Given the description of an element on the screen output the (x, y) to click on. 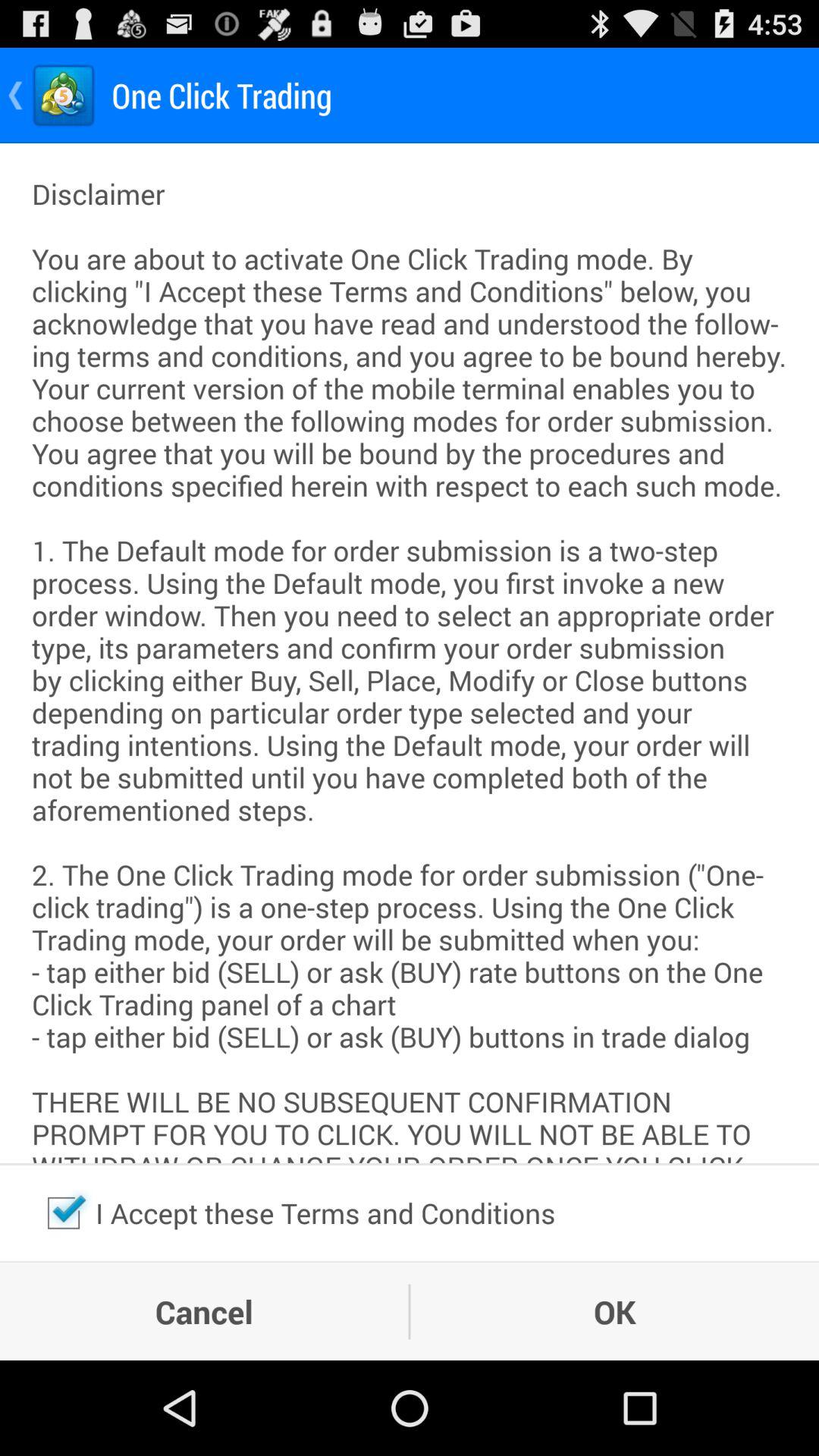
uncheck accept terms and conditions (63, 1212)
